Given the description of an element on the screen output the (x, y) to click on. 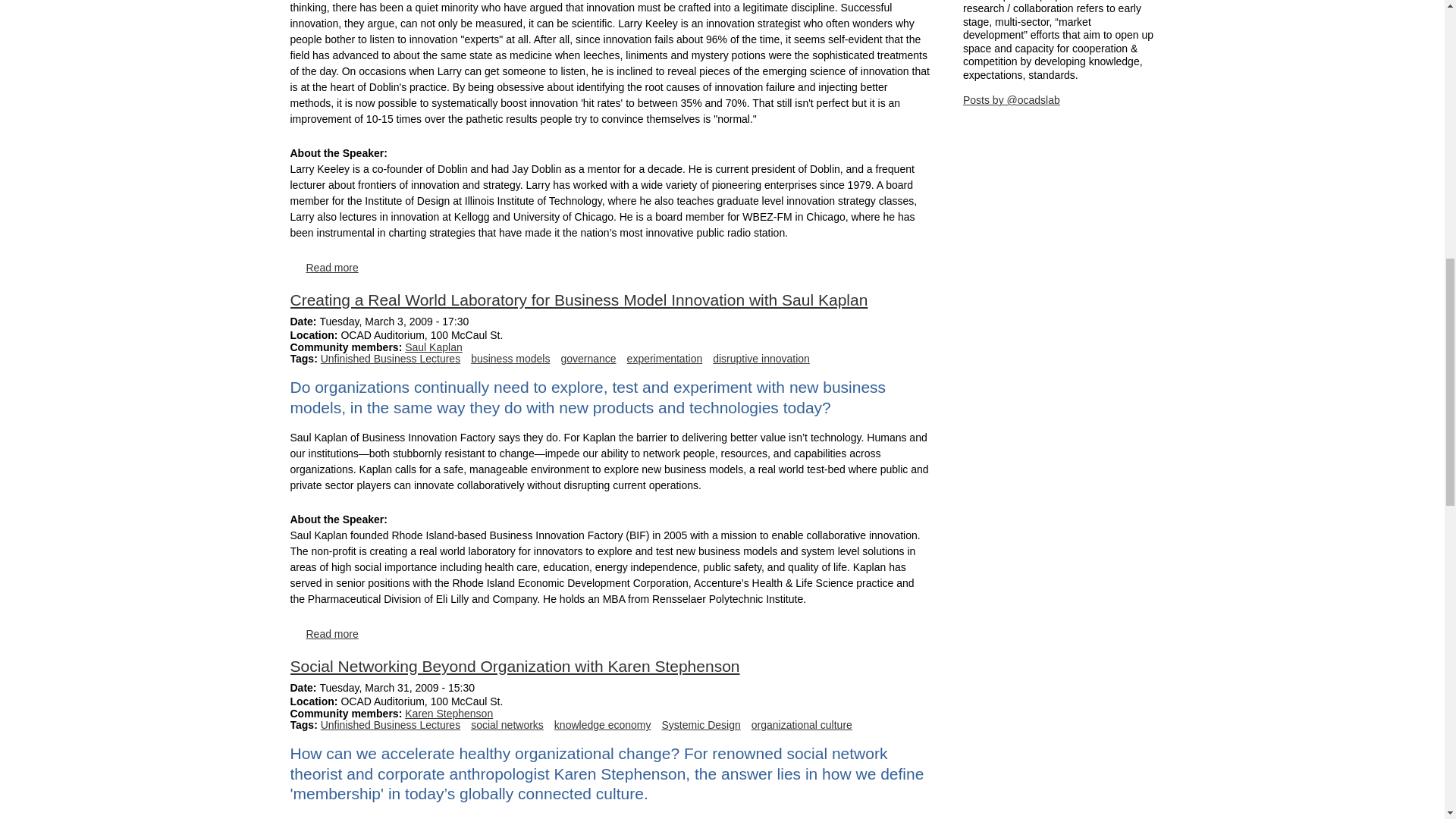
Saul Kaplan (433, 346)
Unfinished Business Lectures (390, 358)
Towards a Science of Innovation with Larry Keeley (331, 266)
